Given the description of an element on the screen output the (x, y) to click on. 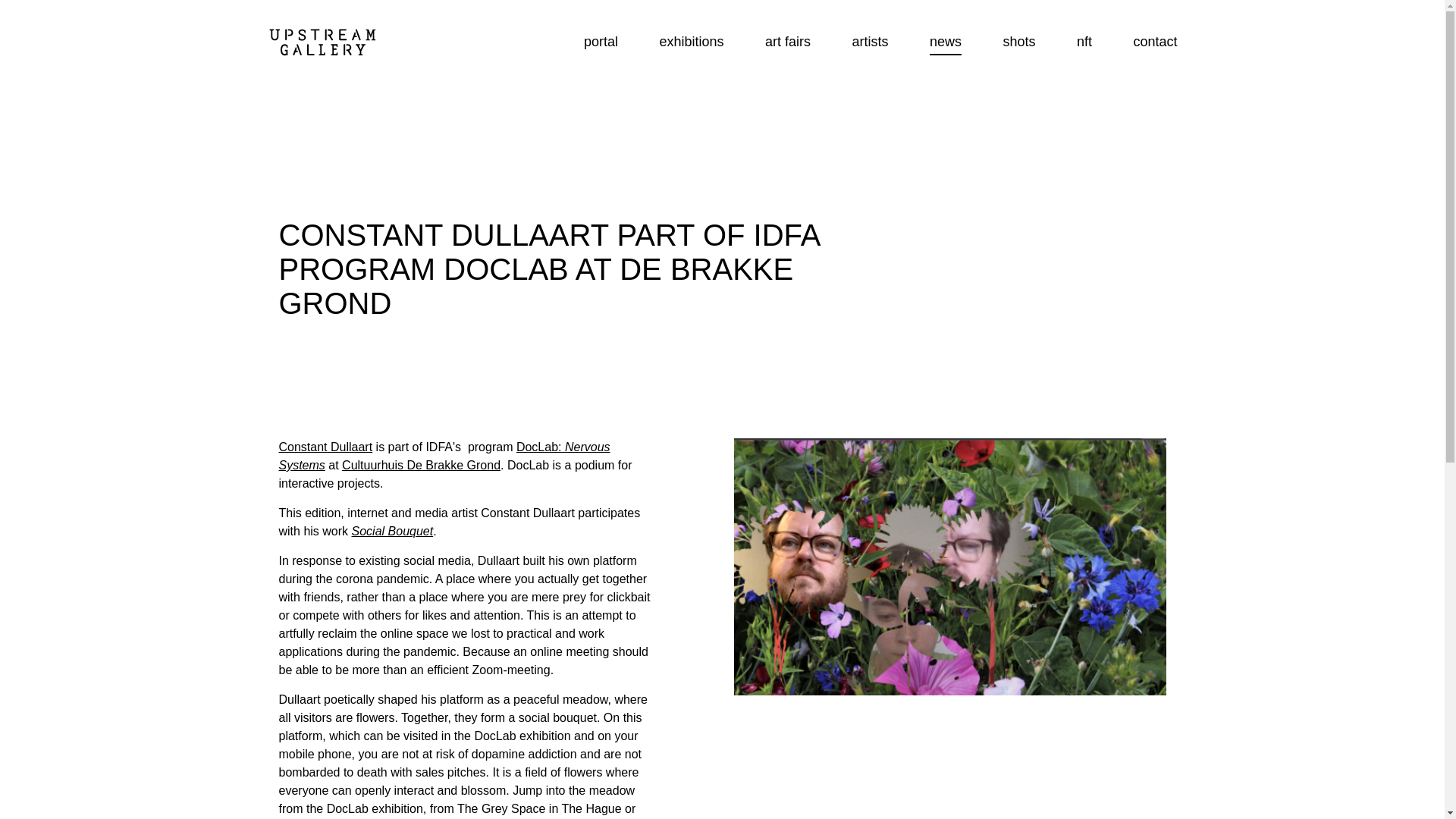
exhibitions (691, 41)
portal (600, 41)
artists (869, 41)
contact (1154, 41)
nft (1084, 41)
art fairs (787, 41)
Cultuurhuis De Brakke Grond (421, 464)
shots (1019, 41)
Constant Dullaart (325, 446)
DocLab: Nervous Systems (444, 455)
